Given the description of an element on the screen output the (x, y) to click on. 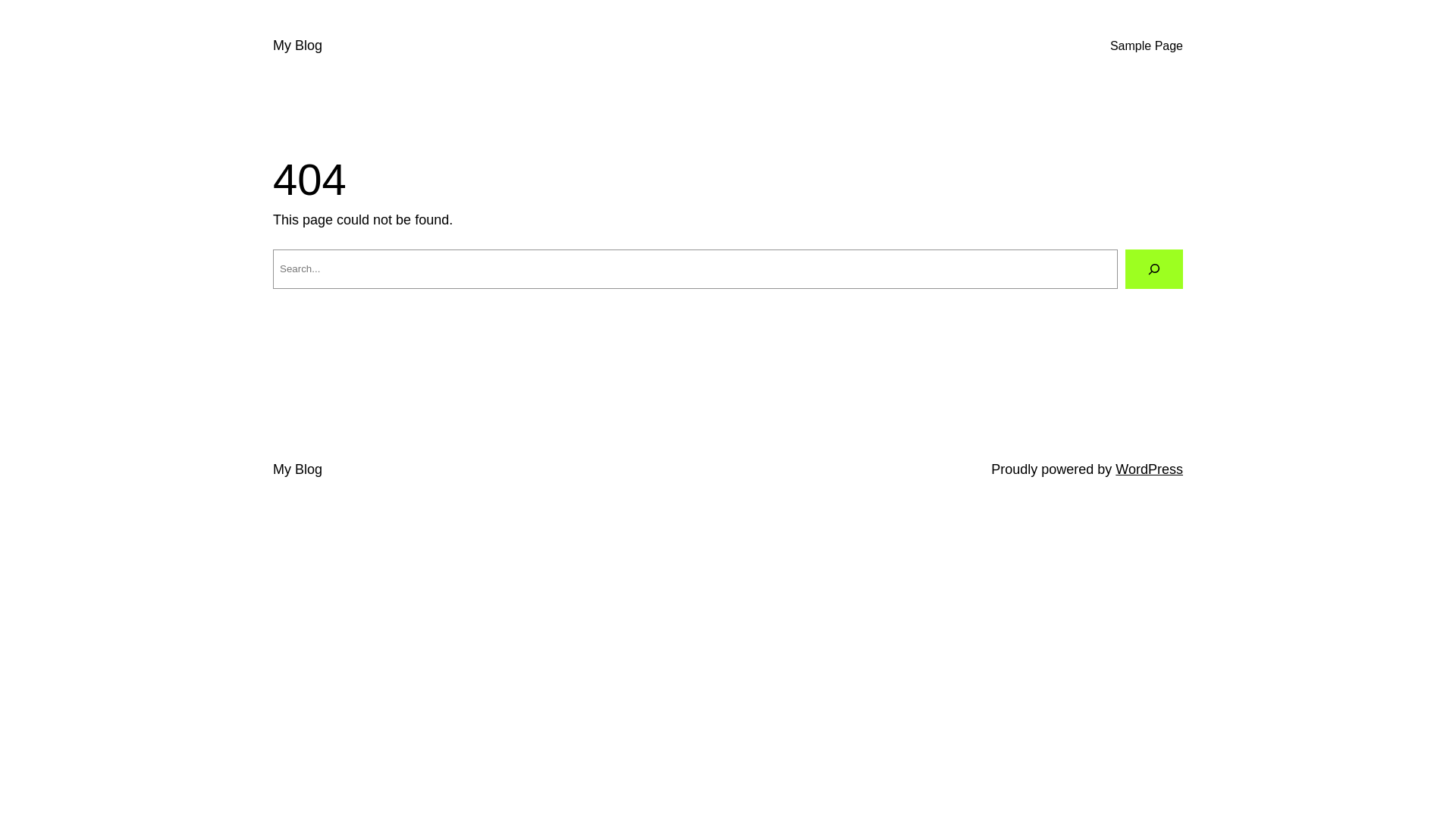
WordPress Element type: text (1149, 468)
Sample Page Element type: text (1146, 46)
My Blog Element type: text (297, 45)
My Blog Element type: text (297, 468)
